Given the description of an element on the screen output the (x, y) to click on. 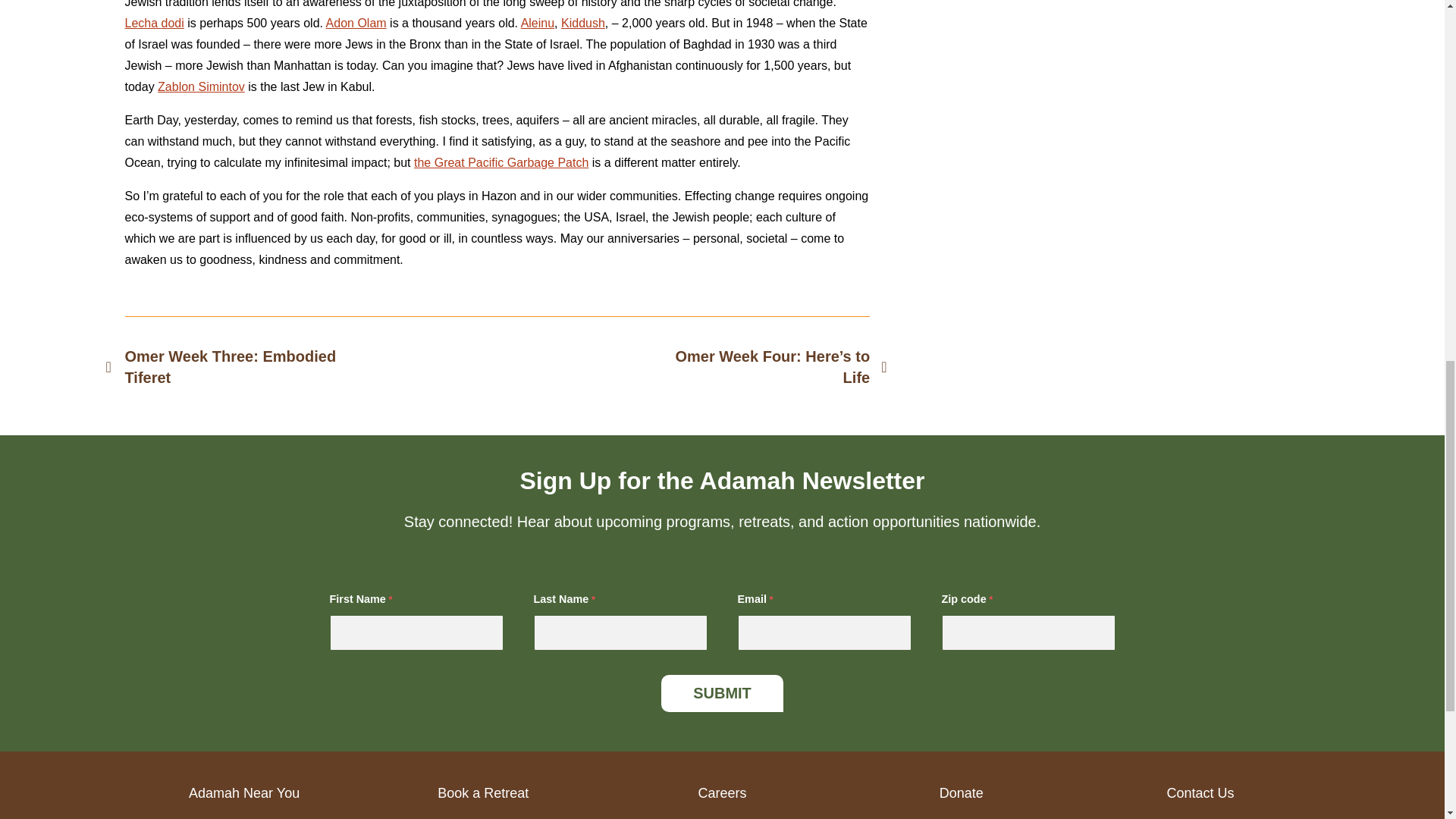
Submit (722, 692)
